Given the description of an element on the screen output the (x, y) to click on. 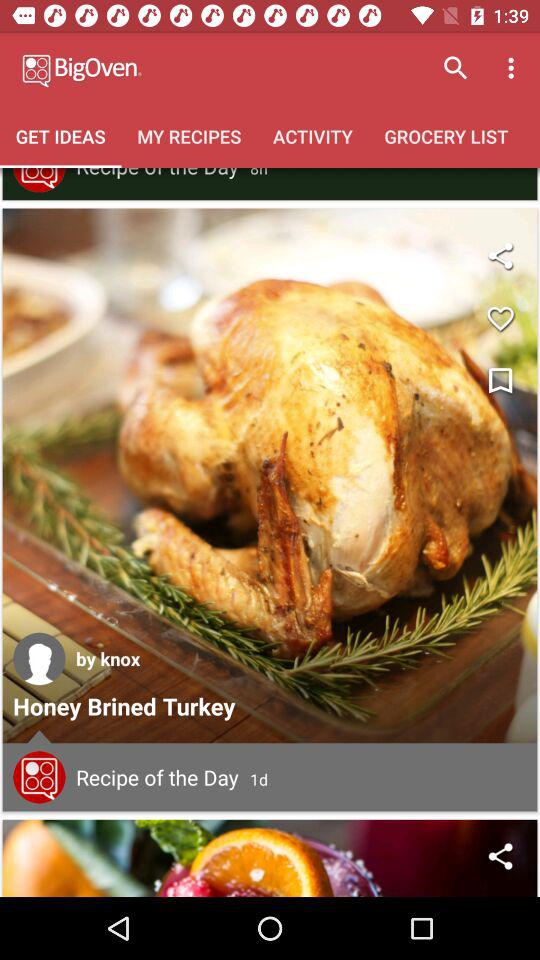
view next receipt (269, 858)
